Given the description of an element on the screen output the (x, y) to click on. 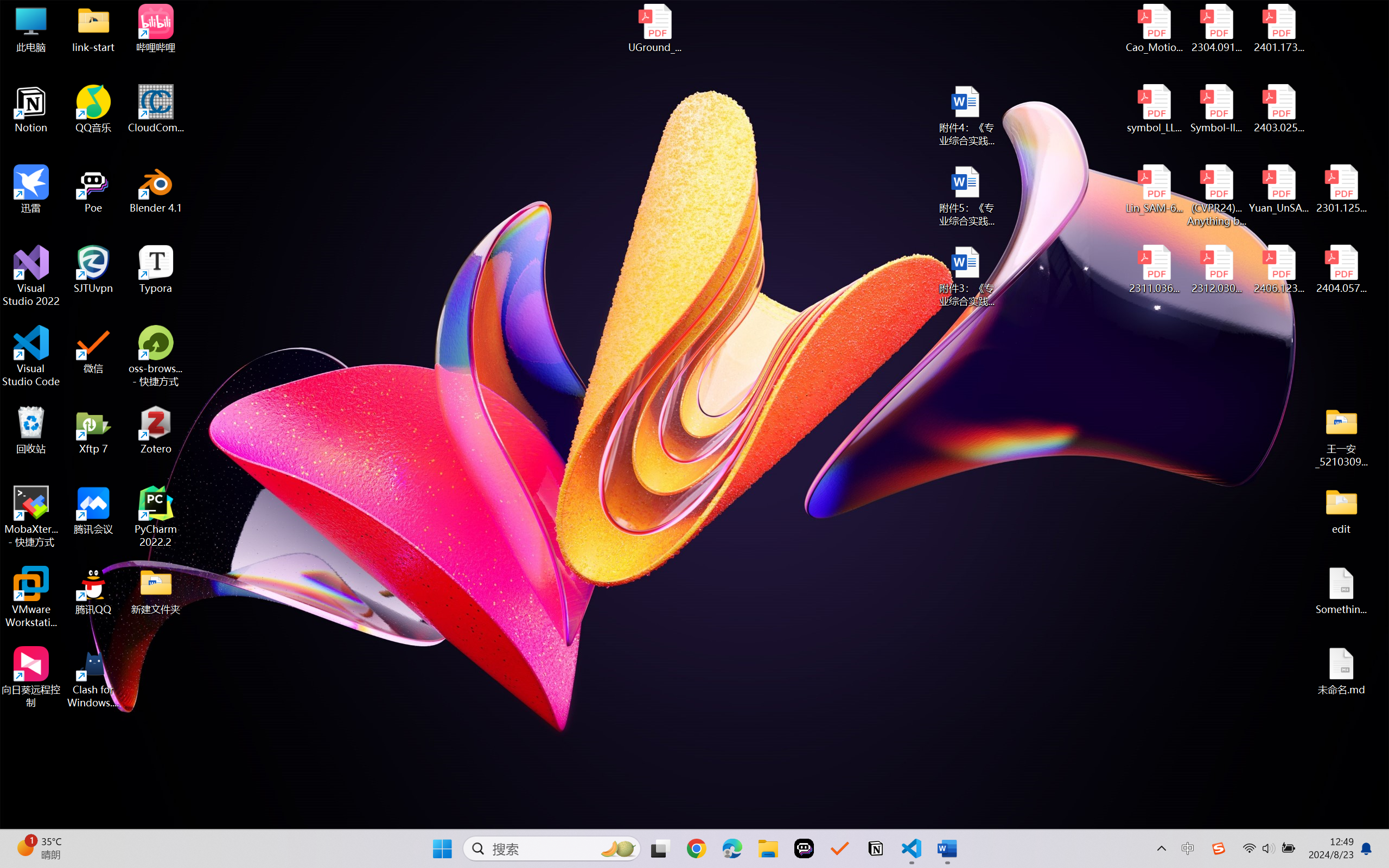
Xftp 7 (93, 430)
2311.03658v2.pdf (1154, 269)
